Given the description of an element on the screen output the (x, y) to click on. 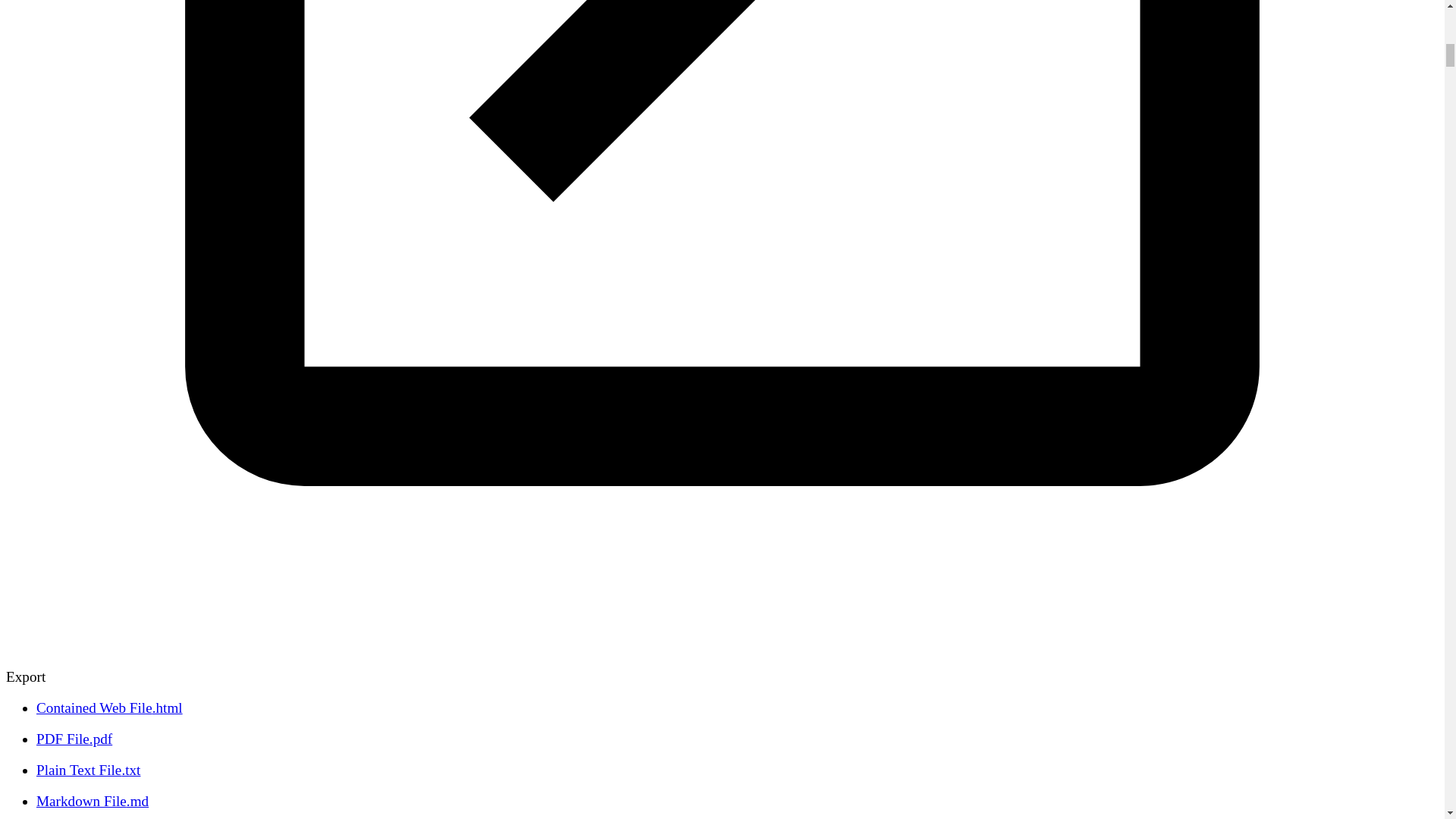
Markdown File.md (92, 801)
Contained Web File.html (109, 707)
Plain Text File.txt (87, 770)
PDF File.pdf (74, 738)
